Given the description of an element on the screen output the (x, y) to click on. 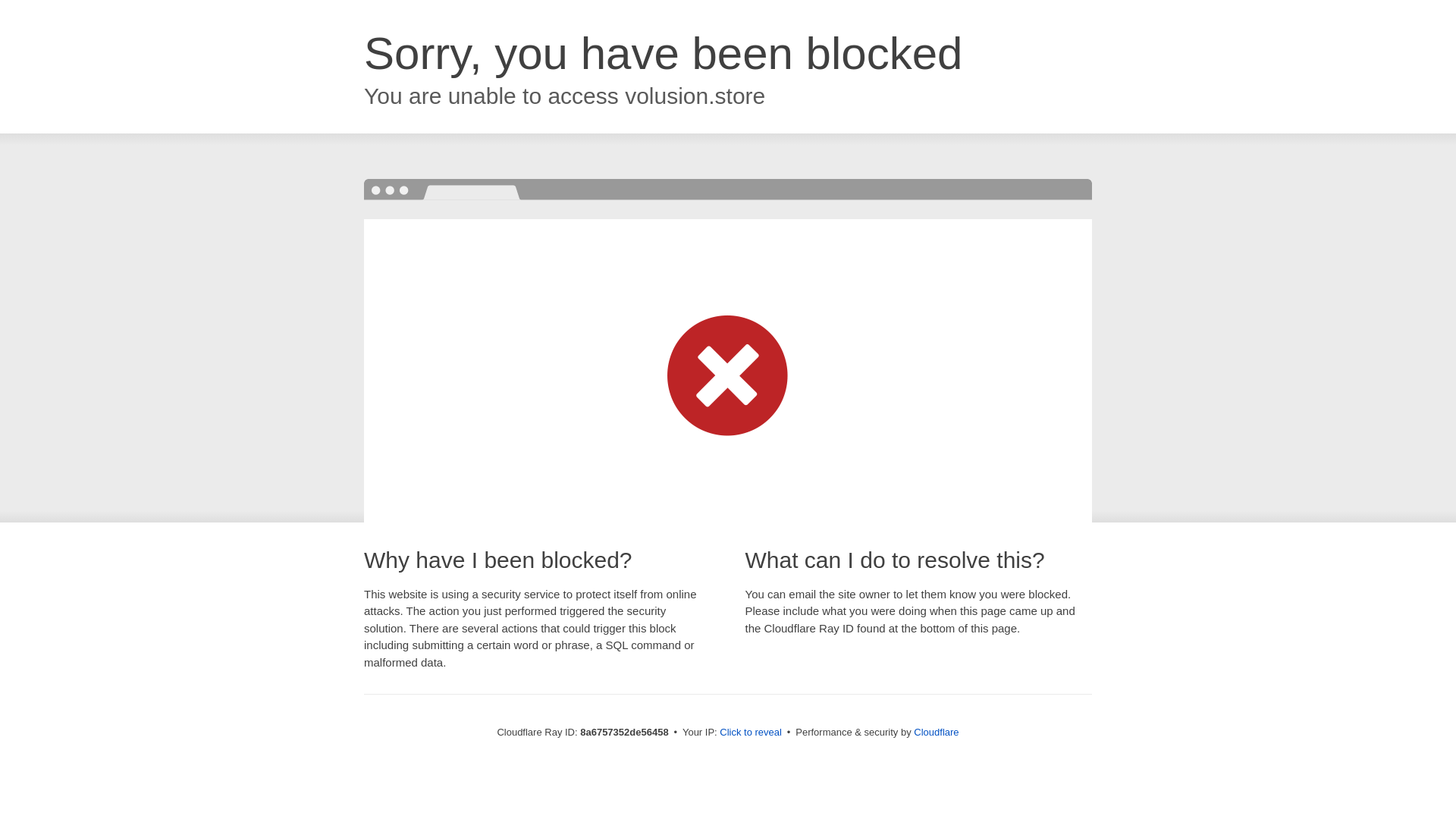
Click to reveal (750, 732)
Cloudflare (936, 731)
